Given the description of an element on the screen output the (x, y) to click on. 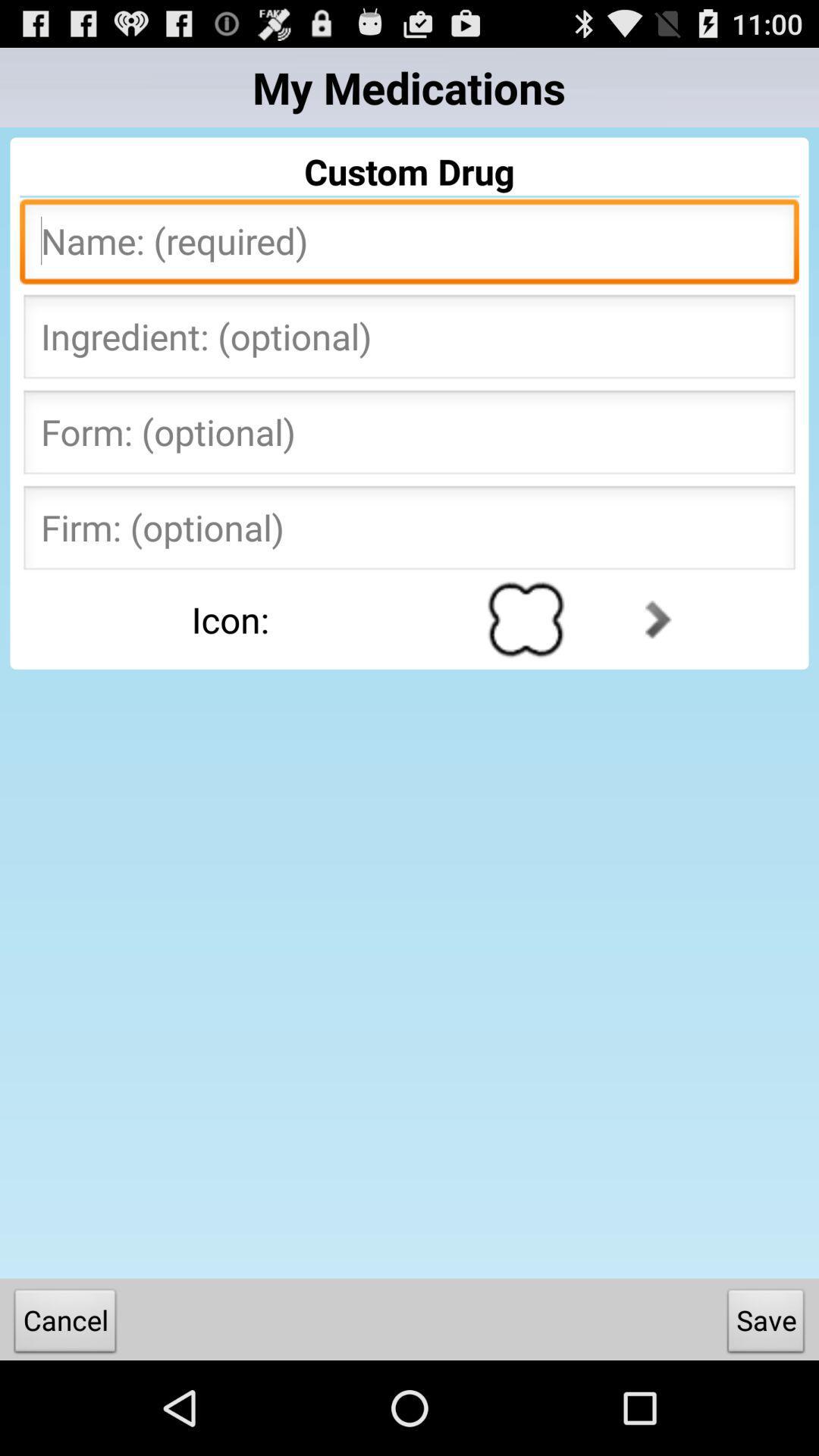
type name (409, 245)
